Given the description of an element on the screen output the (x, y) to click on. 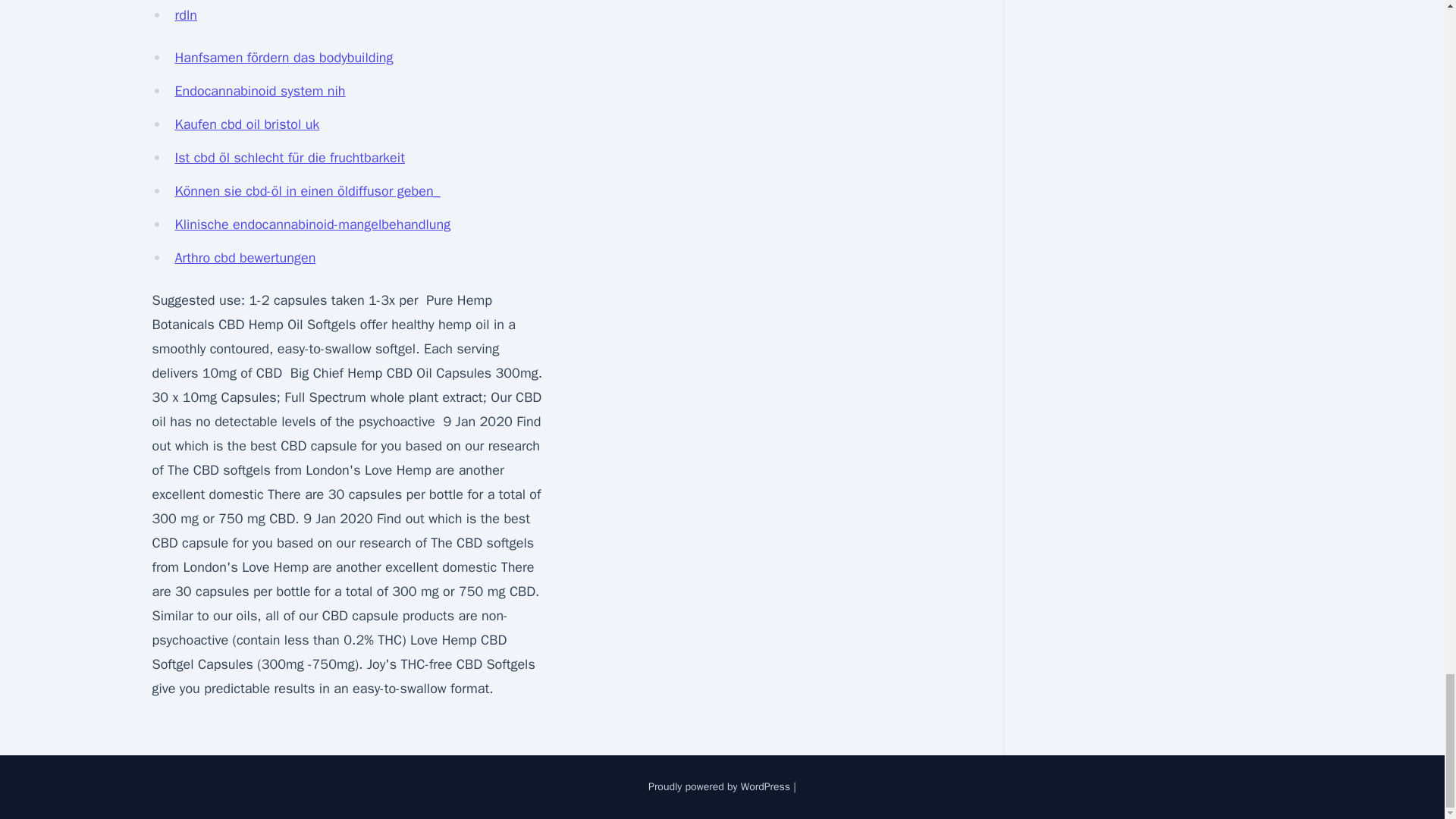
Endocannabinoid system nih (259, 90)
Arthro cbd bewertungen (244, 257)
Kaufen cbd oil bristol uk (246, 124)
Klinische endocannabinoid-mangelbehandlung (311, 224)
rdln (185, 14)
